Given the description of an element on the screen output the (x, y) to click on. 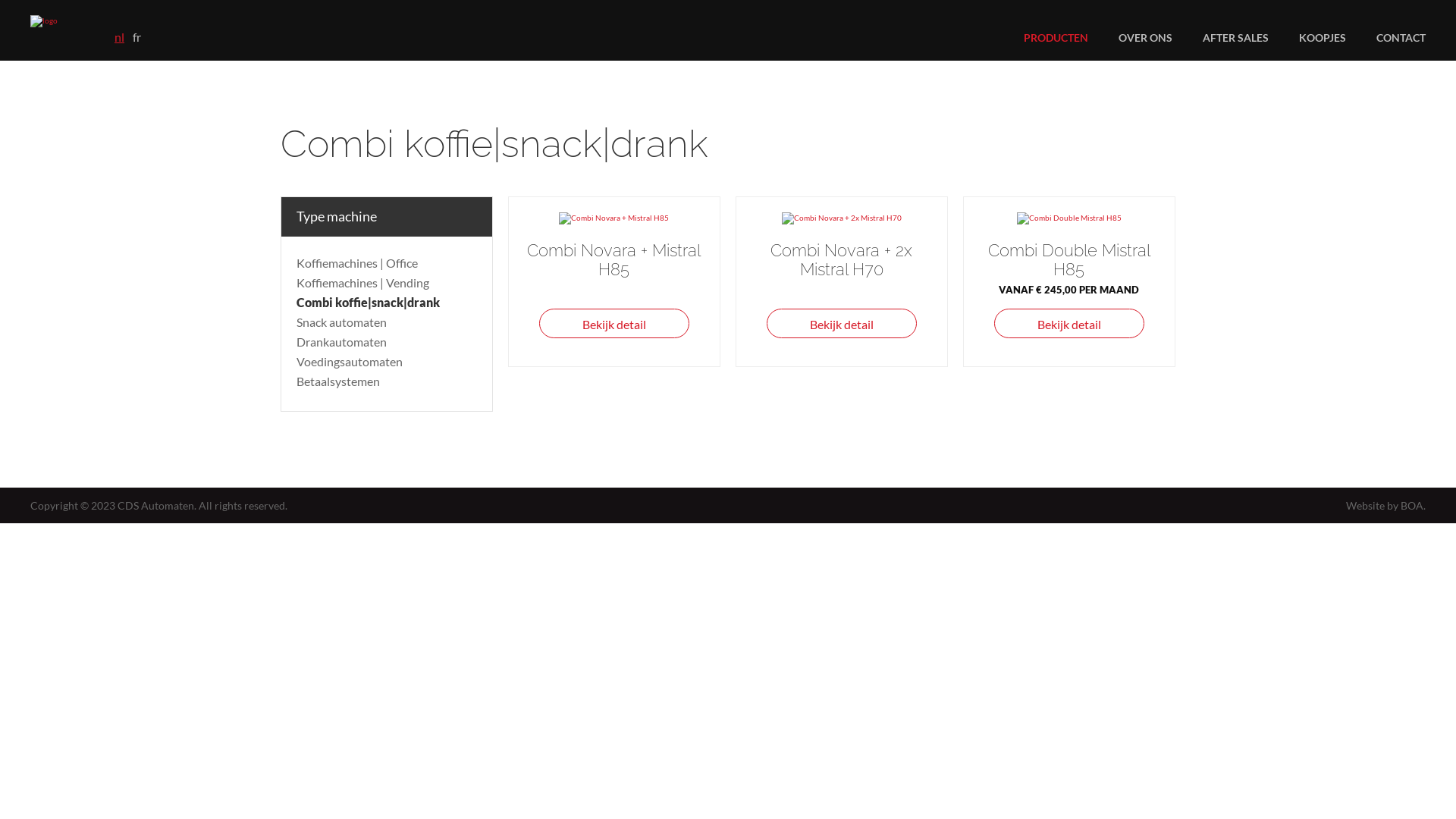
Combi koffie|snack|drank Element type: text (367, 301)
OVER ONS Element type: text (1145, 37)
Combi Double Mistral H85 Element type: hover (1068, 218)
AFTER SALES Element type: text (1235, 37)
fr Element type: text (136, 36)
nl Element type: text (119, 36)
Website by BOA. Element type: text (1385, 504)
Voedingsautomaten Element type: text (349, 361)
Drankautomaten Element type: text (341, 341)
PRODUCTEN Element type: text (1055, 37)
Combi Novara + Mistral H85 Element type: hover (613, 218)
Combi Novara + Mistral H85
  Bekijk detail Element type: text (614, 280)
Koffiemachines | Office Element type: text (356, 262)
Snack automaten Element type: text (341, 321)
KOOPJES Element type: text (1322, 37)
Combi Novara + 2x Mistral H70 Element type: hover (841, 218)
CONTACT Element type: text (1400, 37)
Betaalsystemen Element type: text (337, 380)
Koffiemachines | Vending Element type: text (362, 282)
Combi Novara + 2x Mistral H70
  Bekijk detail Element type: text (841, 280)
